Given the description of an element on the screen output the (x, y) to click on. 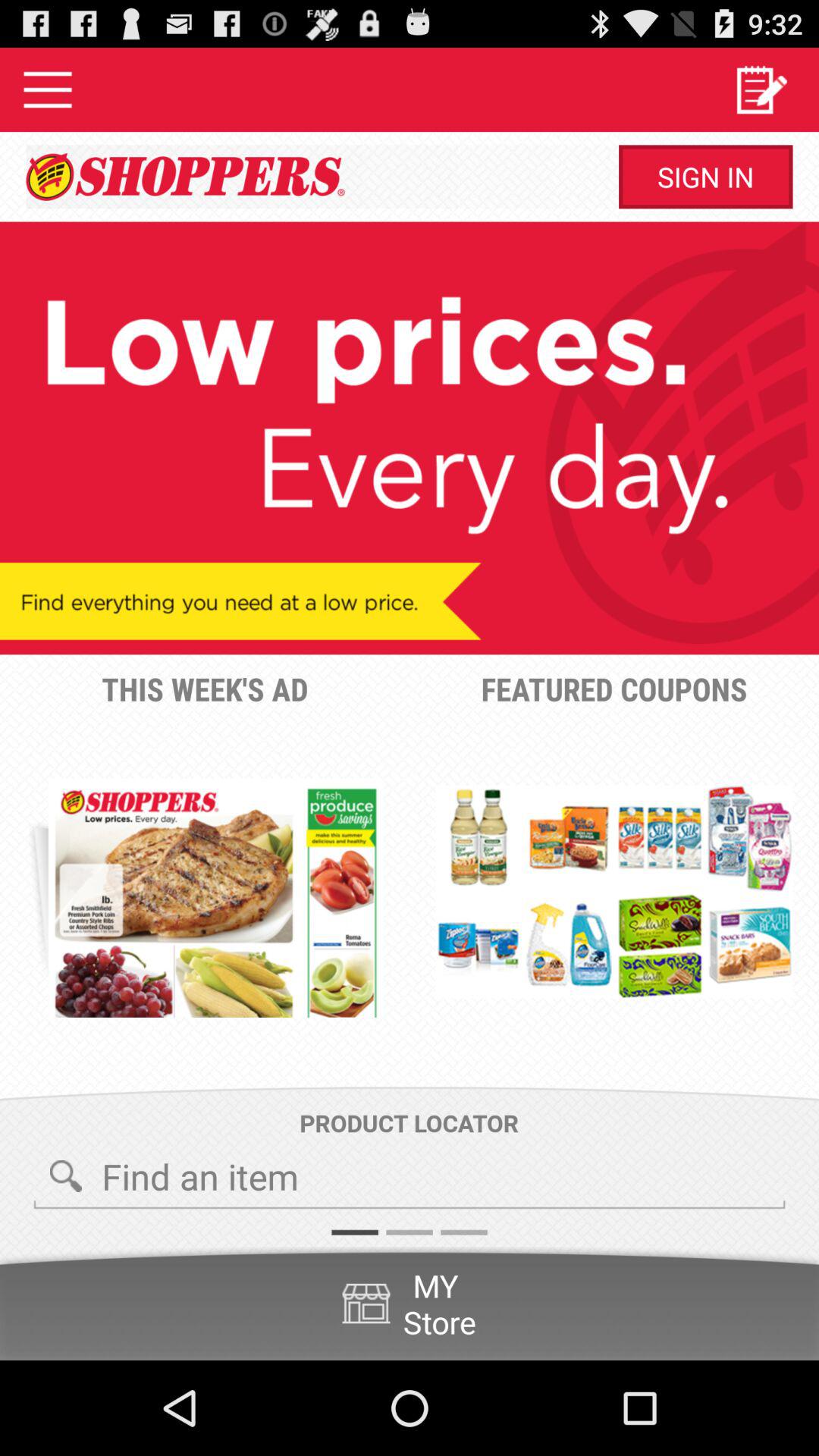
tap sign in item (705, 176)
